Given the description of an element on the screen output the (x, y) to click on. 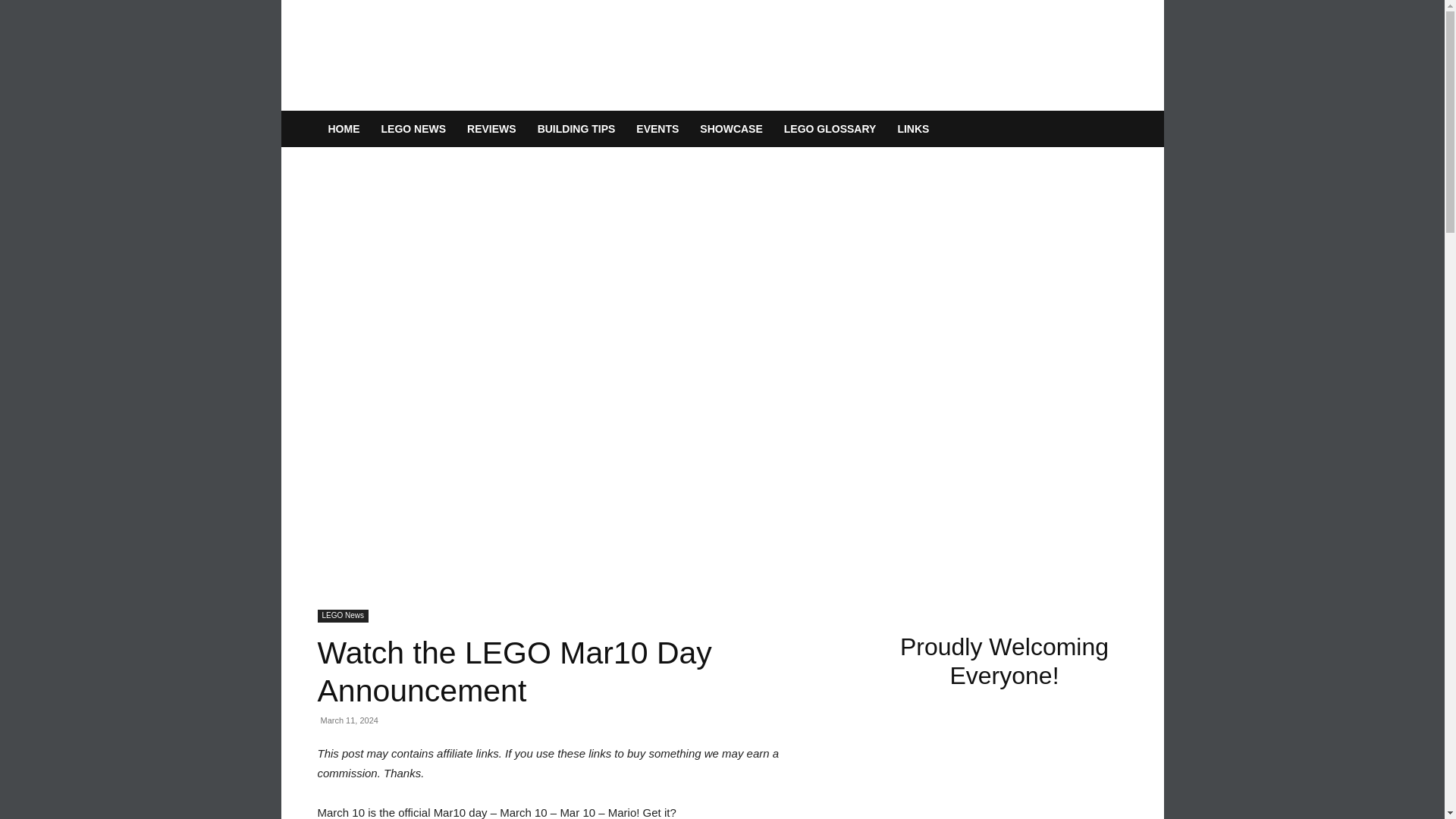
LEGO NEWS (413, 128)
BUILDING TIPS (576, 128)
LEGO News (342, 615)
SHOWCASE (730, 128)
EVENTS (657, 128)
REVIEWS (492, 128)
LINKS (912, 128)
HOME (343, 128)
LEGO GLOSSARY (829, 128)
